Given the description of an element on the screen output the (x, y) to click on. 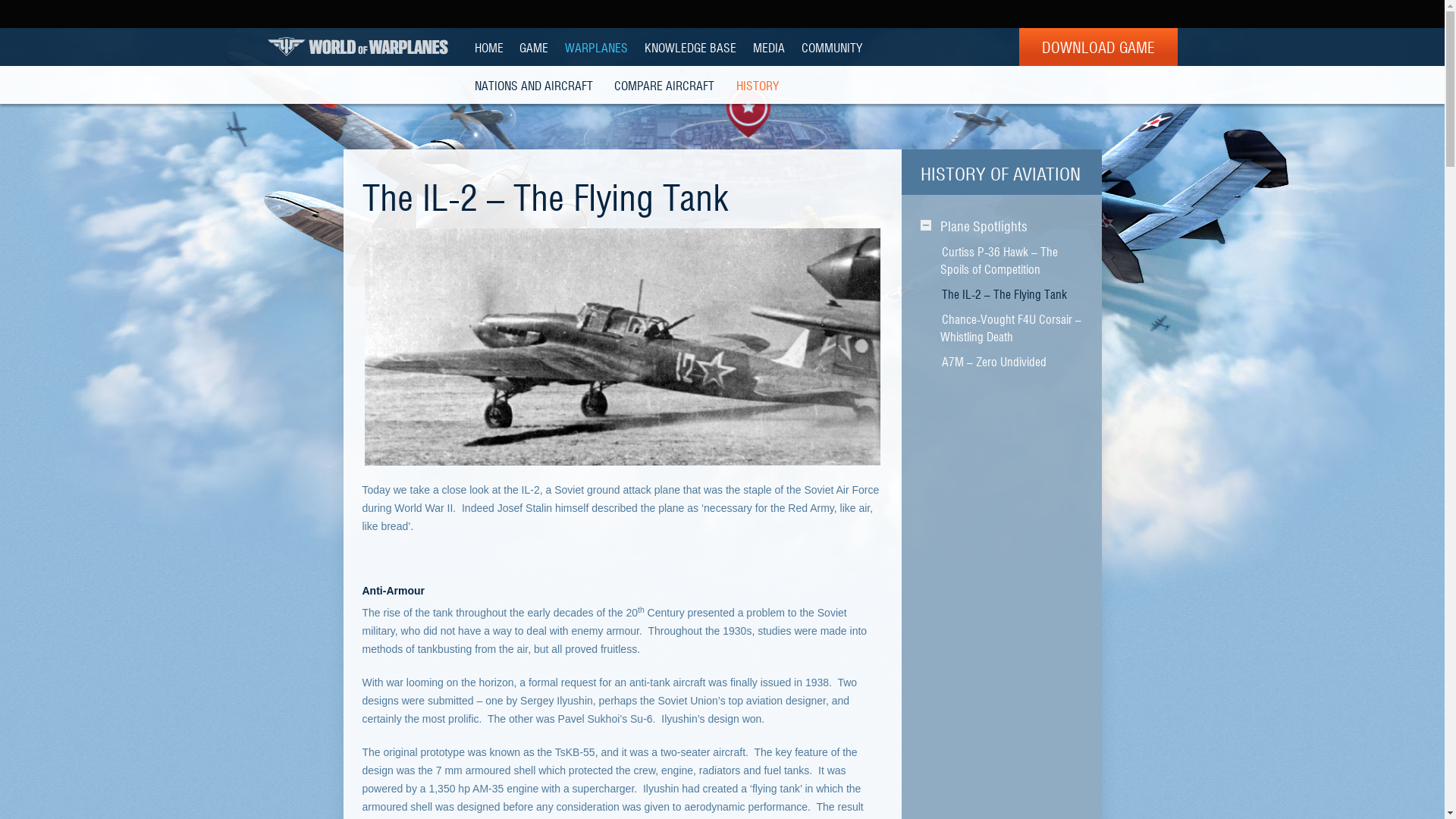
HISTORY (757, 85)
COMMUNITY (831, 46)
COMPARE AIRCRAFT (664, 85)
WARPLANES (595, 46)
NATIONS AND AIRCRAFT (533, 85)
Plane Spotlights (983, 225)
HISTORY OF AVIATION (1000, 172)
World of Warplanes (356, 46)
DOWNLOAD GAME (1098, 46)
World of Warplanes (356, 46)
